Given the description of an element on the screen output the (x, y) to click on. 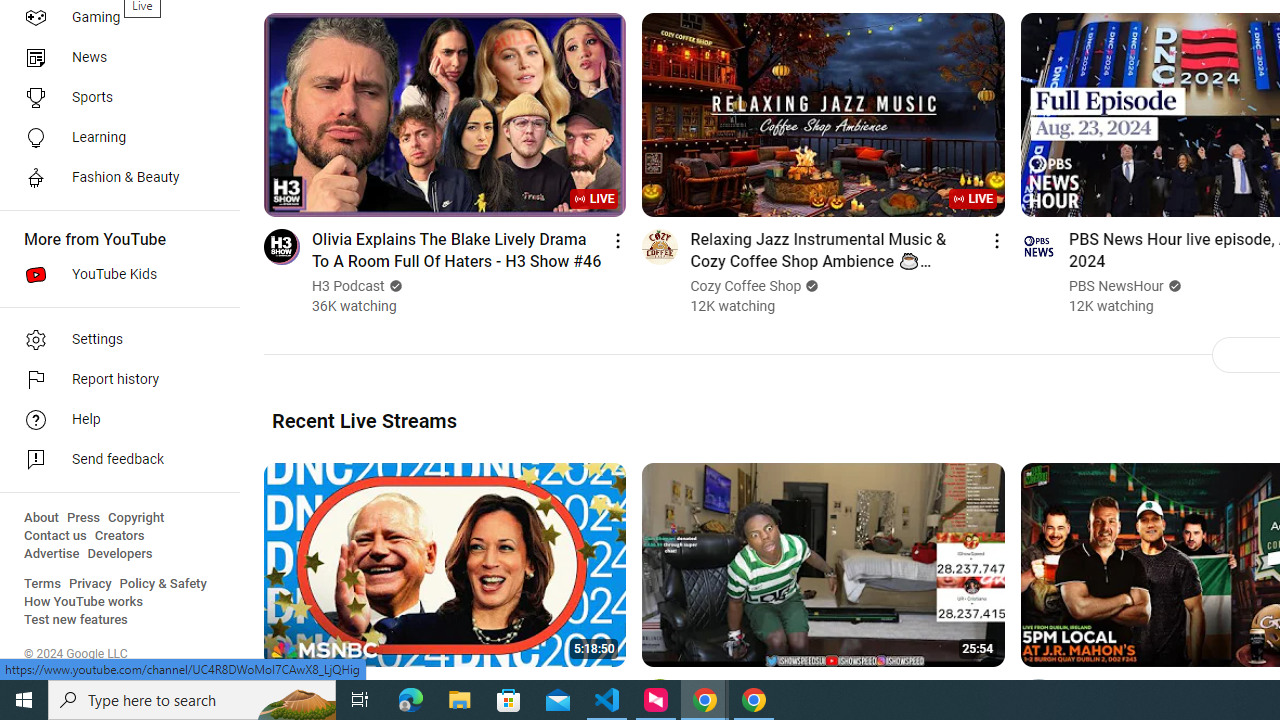
Verified (1172, 286)
How YouTube works (83, 602)
Copyright (136, 518)
About (41, 518)
Contact us (55, 536)
Sports (113, 97)
Cozy Coffee Shop (745, 285)
PBS NewsHour (1116, 285)
News (113, 57)
Creators (118, 536)
Settings (113, 339)
Fashion & Beauty (113, 177)
Recent Live Streams (363, 420)
Send feedback (113, 459)
